Given the description of an element on the screen output the (x, y) to click on. 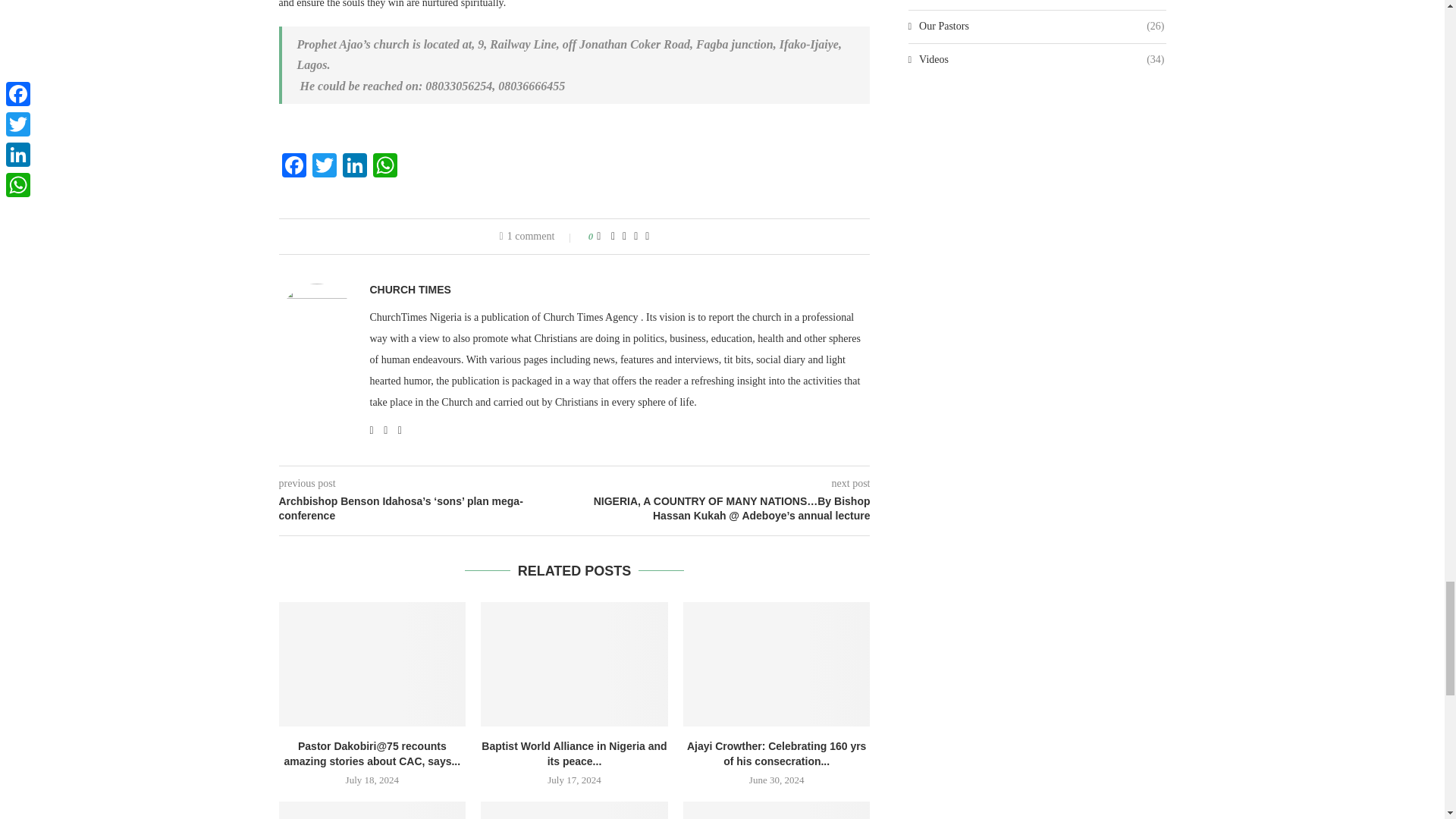
Facebook (293, 166)
Author Church Times (410, 289)
Twitter (323, 166)
WhatsApp (384, 166)
Baptist World Alliance in Nigeria and its peace advocacy (574, 663)
LinkedIn (354, 166)
Like (597, 236)
